Given the description of an element on the screen output the (x, y) to click on. 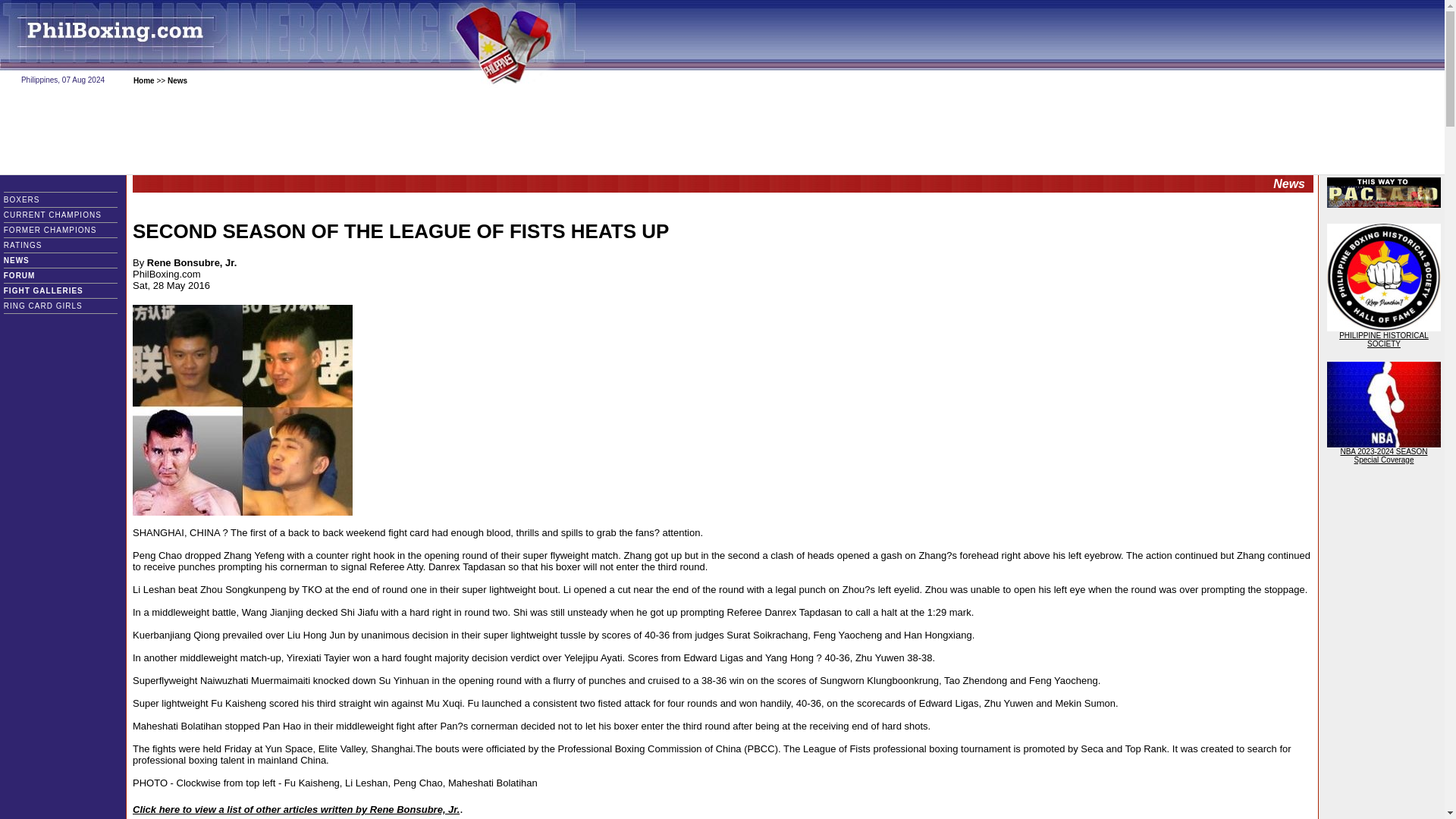
Home (143, 80)
FORUM         (31, 275)
FIGHT GALLERIES         (55, 290)
NEWS            (32, 260)
Advertisement (721, 131)
News (177, 80)
